Given the description of an element on the screen output the (x, y) to click on. 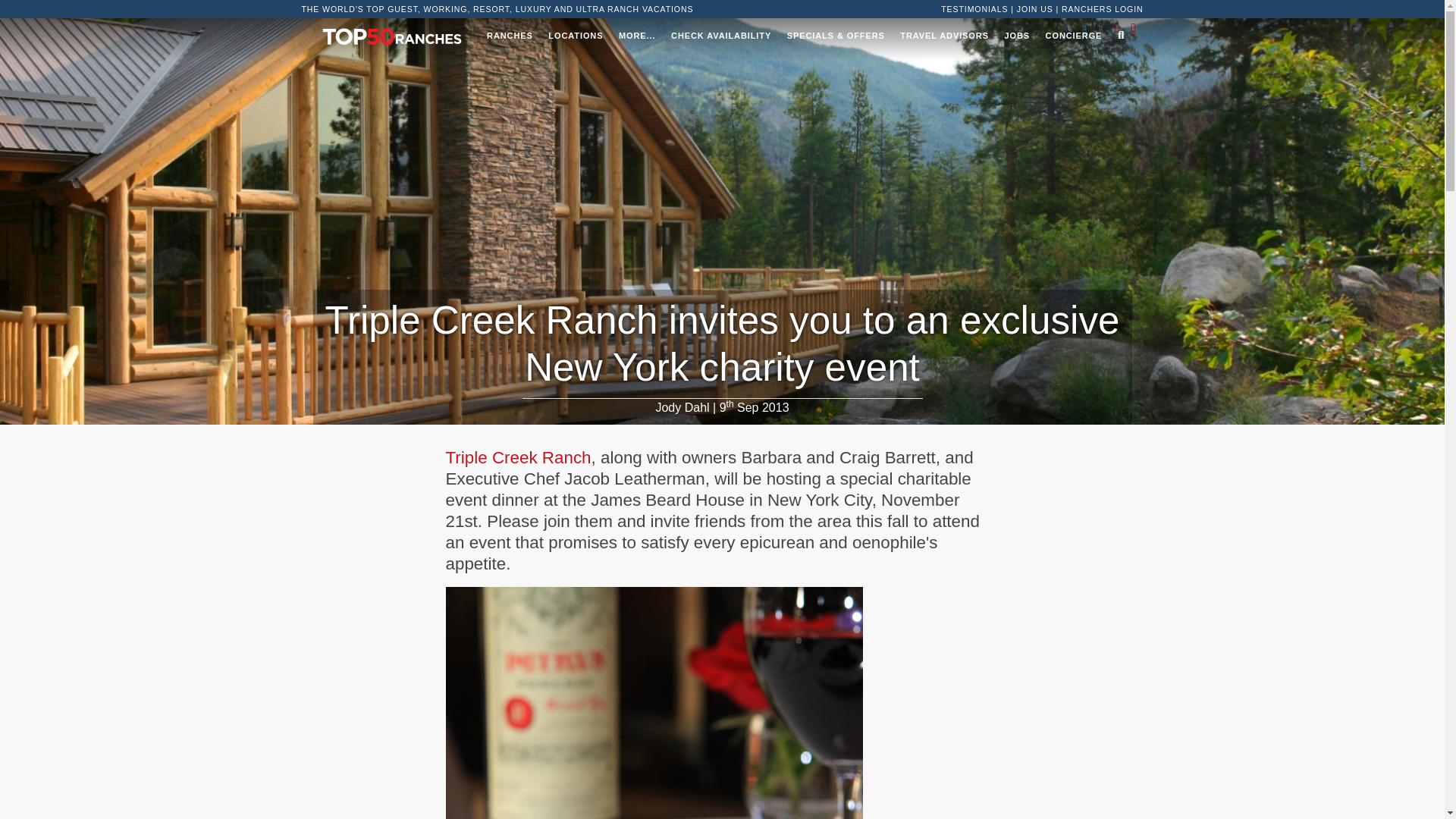
facebook (1068, 27)
pinterest (1117, 27)
TESTIMONIALS (973, 8)
instagram (1101, 27)
twitter (1085, 27)
RANCHERS LOGIN (1101, 8)
JOIN US (1034, 8)
youtube (1133, 27)
RANCHES (509, 35)
